Given the description of an element on the screen output the (x, y) to click on. 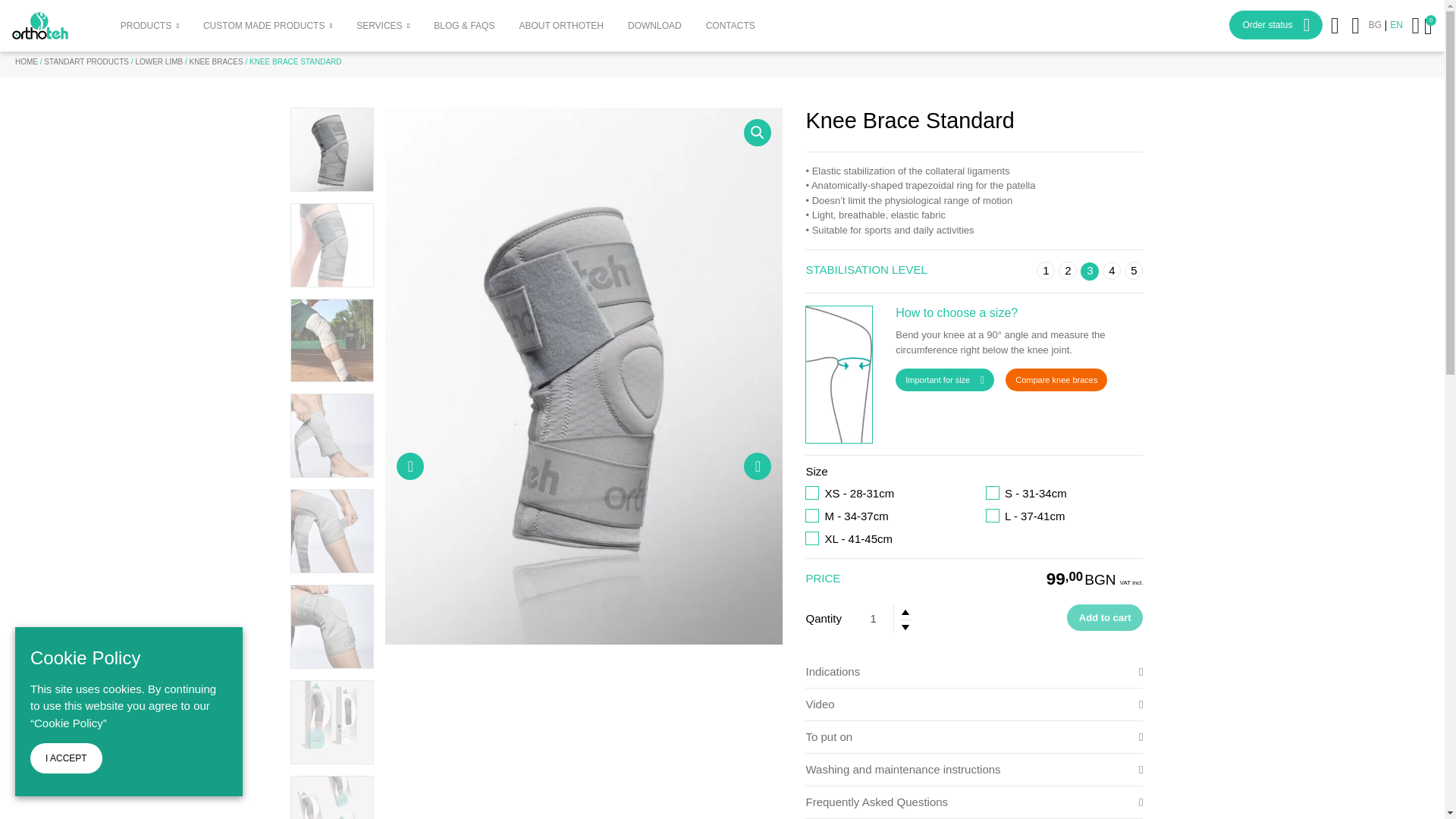
PRODUCTS (145, 25)
1 (873, 618)
CUSTOM MADE PRODUCTS (263, 25)
Products (145, 25)
